Given the description of an element on the screen output the (x, y) to click on. 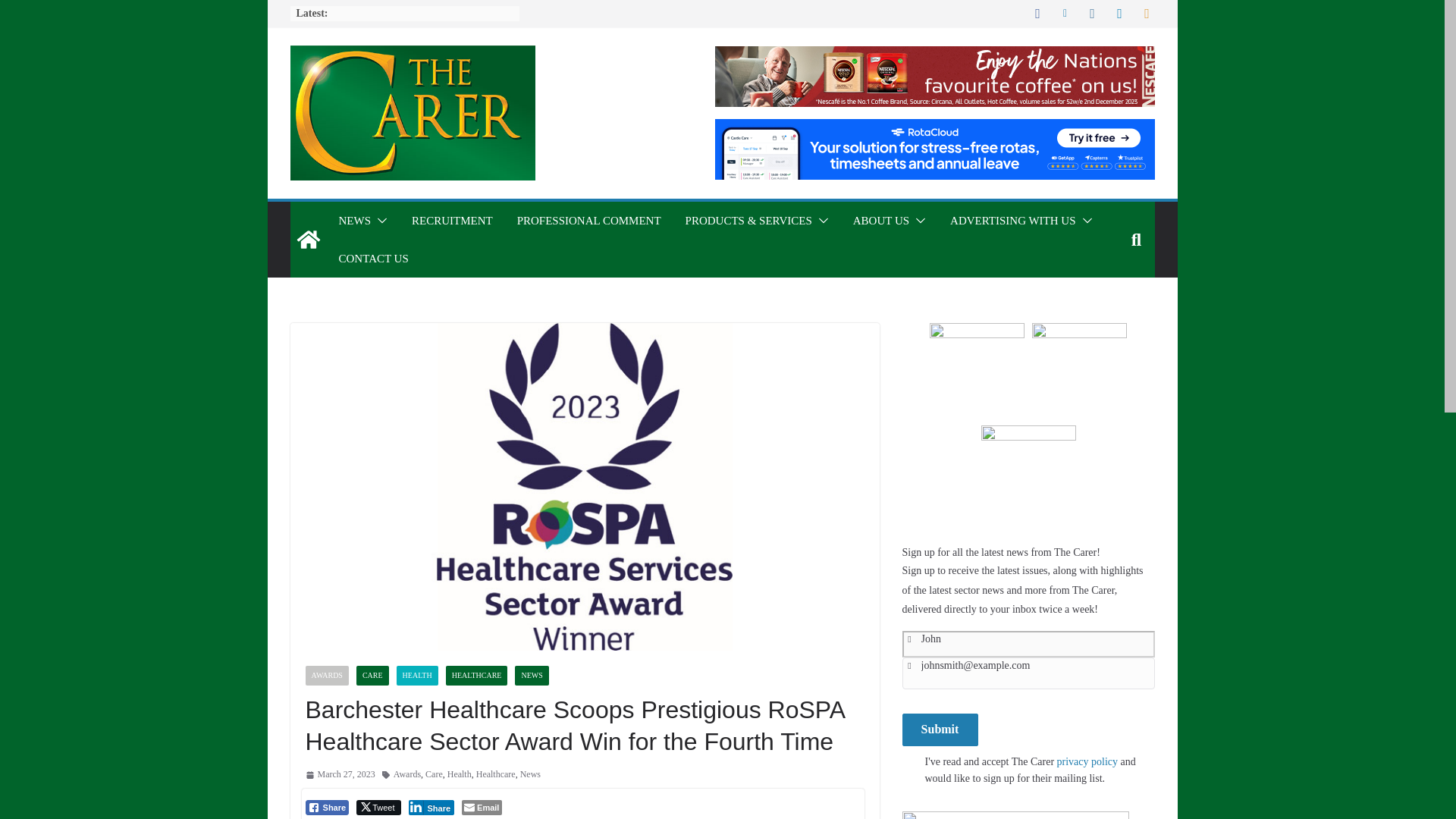
The Carer (307, 239)
NEWS (354, 220)
11:30 am (339, 774)
PROFESSIONAL COMMENT (588, 220)
RECRUITMENT (452, 220)
